Given the description of an element on the screen output the (x, y) to click on. 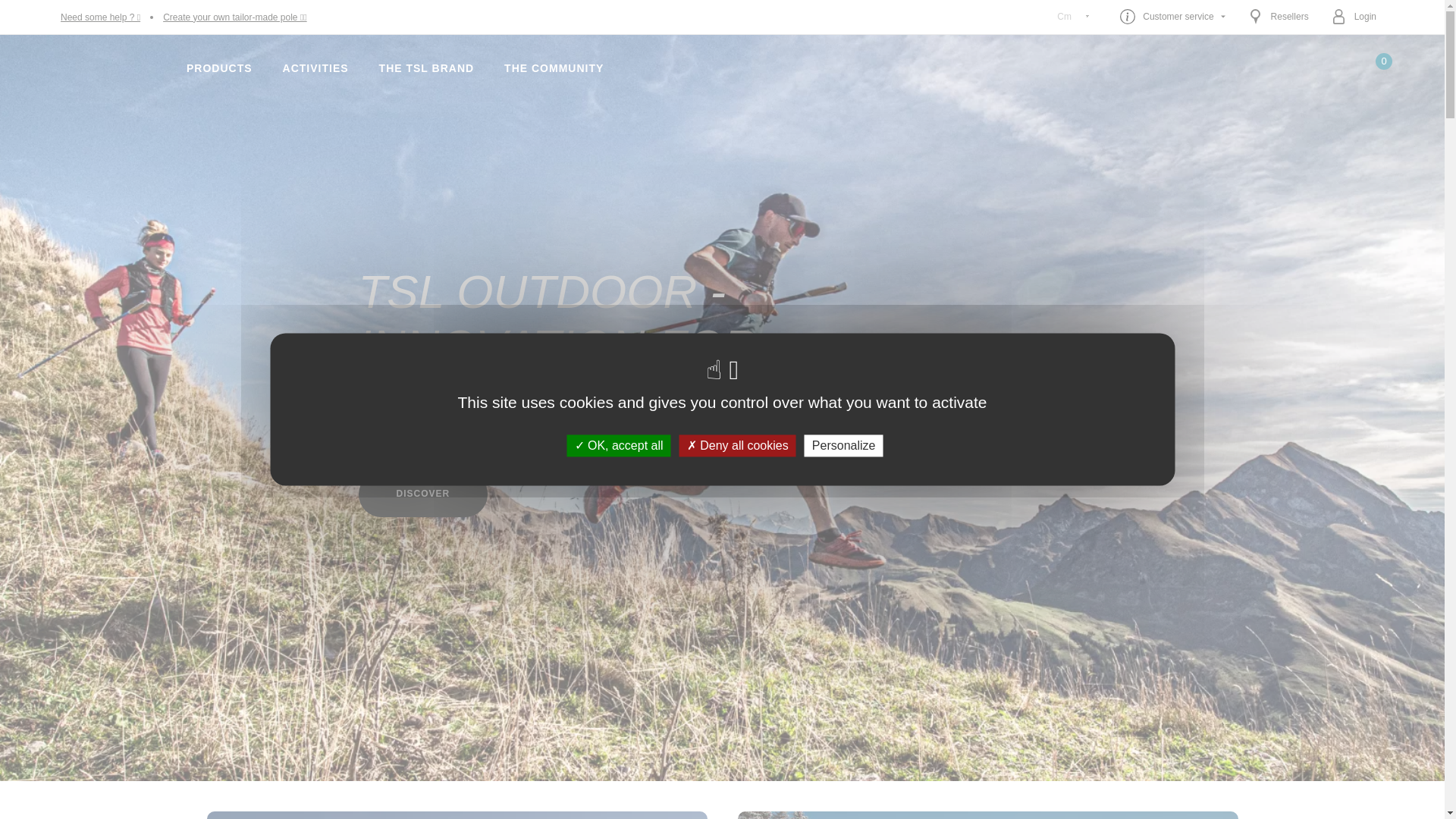
0 (1374, 67)
Homepage (108, 68)
Search (972, 205)
Discover (422, 493)
Login (1353, 16)
Search (1331, 67)
Need some help ? (100, 16)
Resellers (1277, 16)
